Given the description of an element on the screen output the (x, y) to click on. 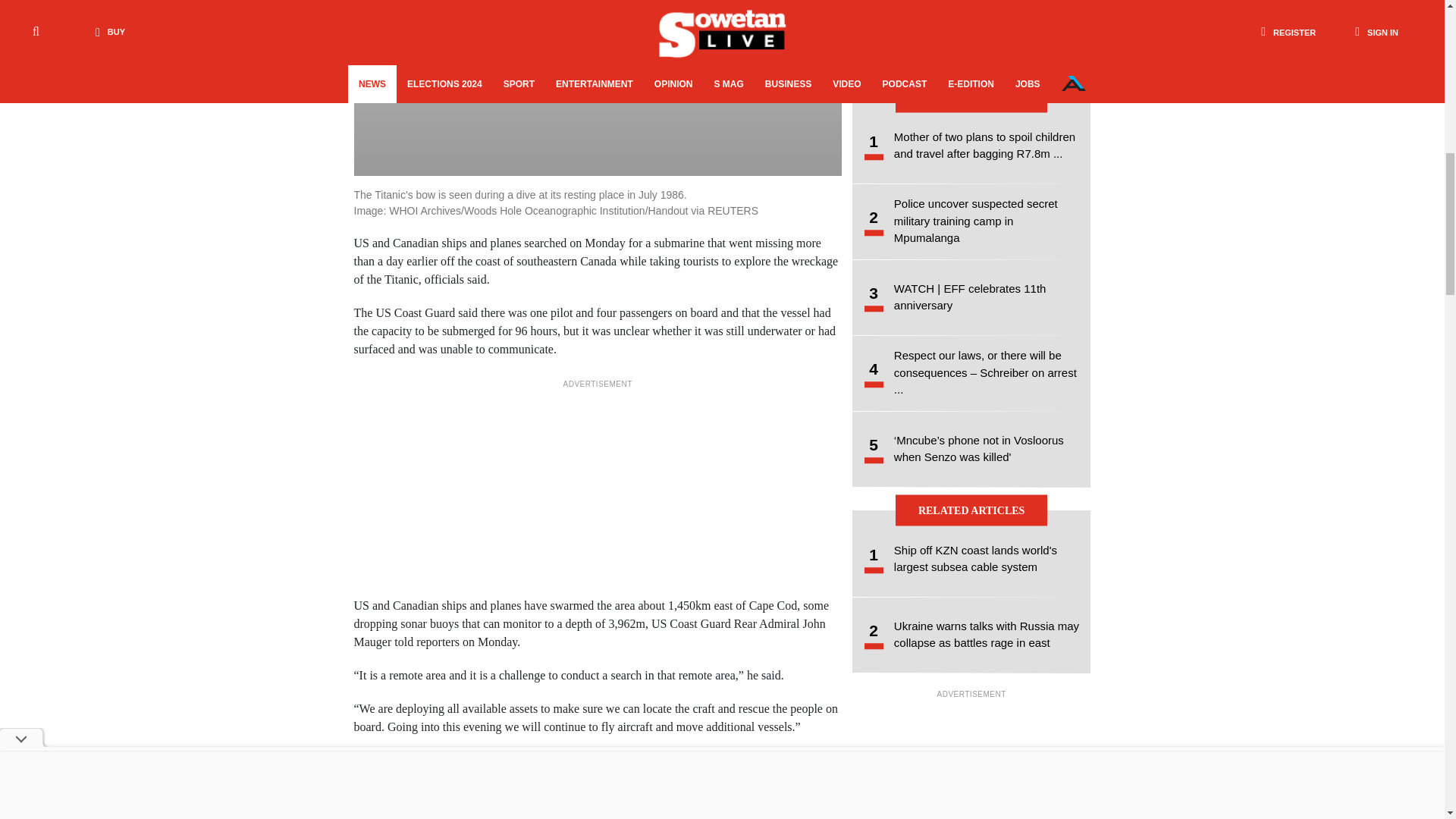
3rd party ad content (597, 486)
